Given the description of an element on the screen output the (x, y) to click on. 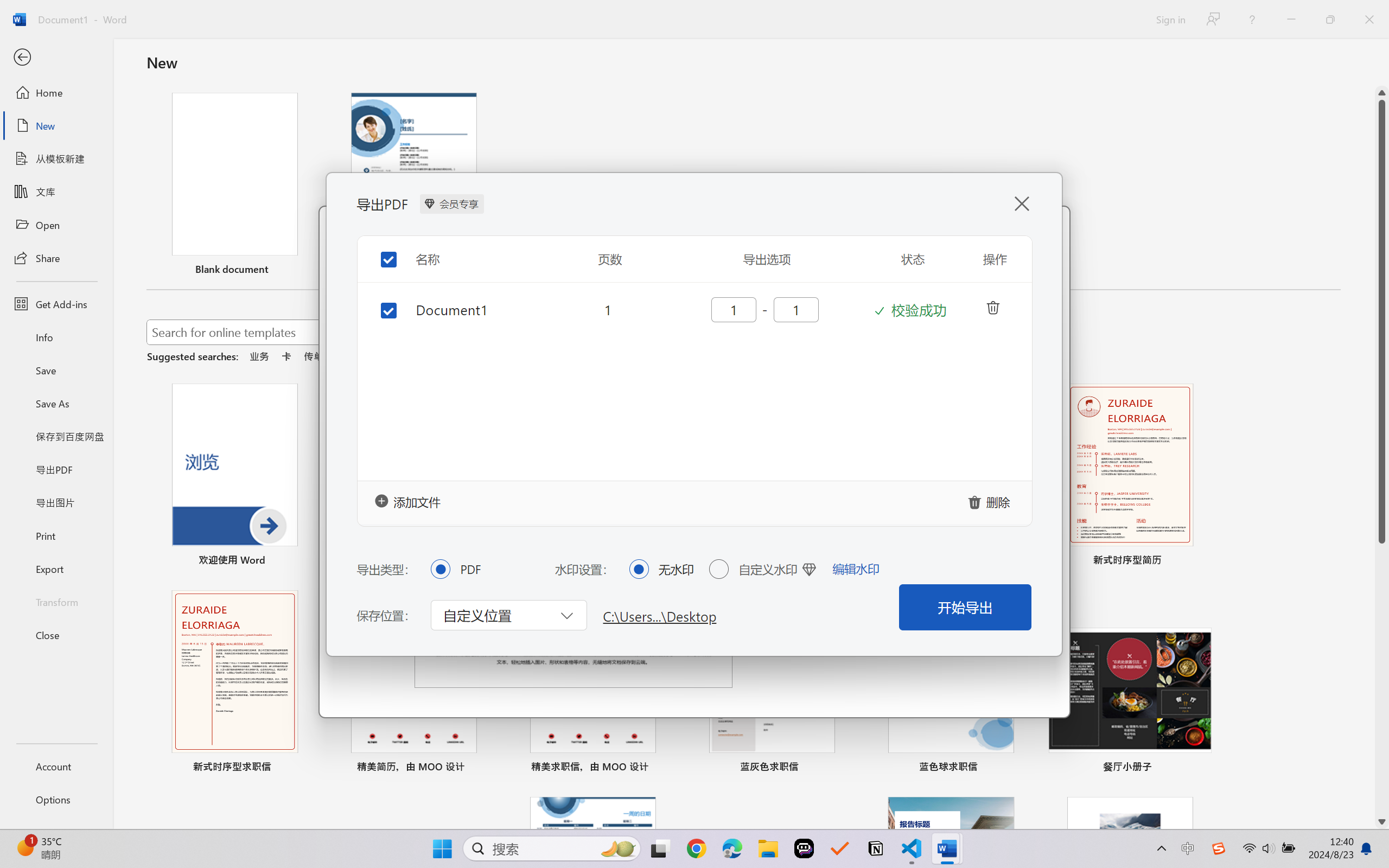
Line up (1382, 92)
select row (380, 308)
AutomationID: input44 (795, 308)
